Given the description of an element on the screen output the (x, y) to click on. 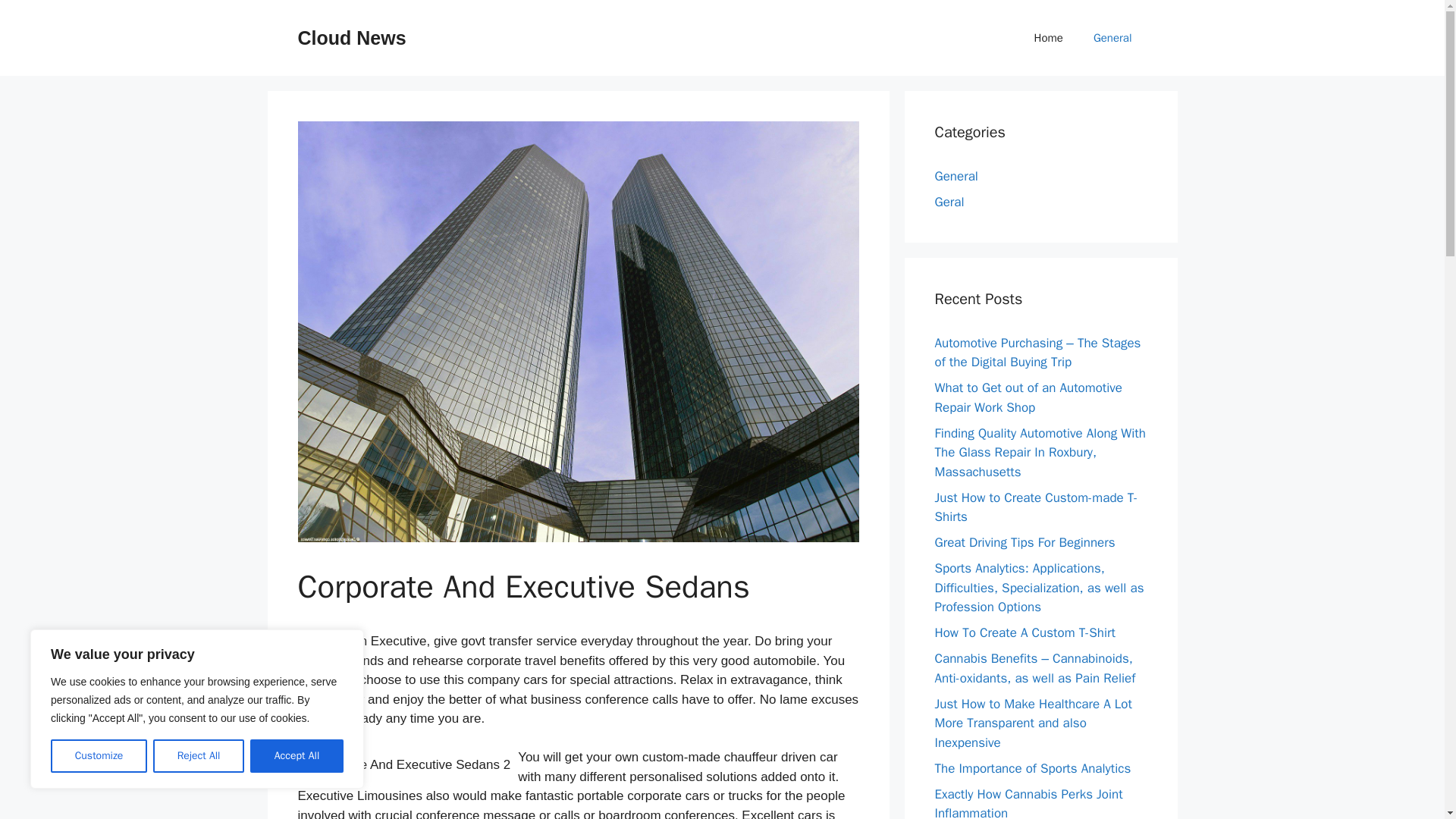
Great Driving Tips For Beginners (1024, 542)
Just How to Create Custom-made T-Shirts (1035, 507)
What to Get out of an Automotive Repair Work Shop (1028, 397)
Cloud News (351, 37)
Accept All (296, 756)
Home (1048, 37)
General (955, 176)
How To Create A Custom T-Shirt (1024, 632)
Geral (948, 201)
Customize (98, 756)
Reject All (198, 756)
General (1112, 37)
